Given the description of an element on the screen output the (x, y) to click on. 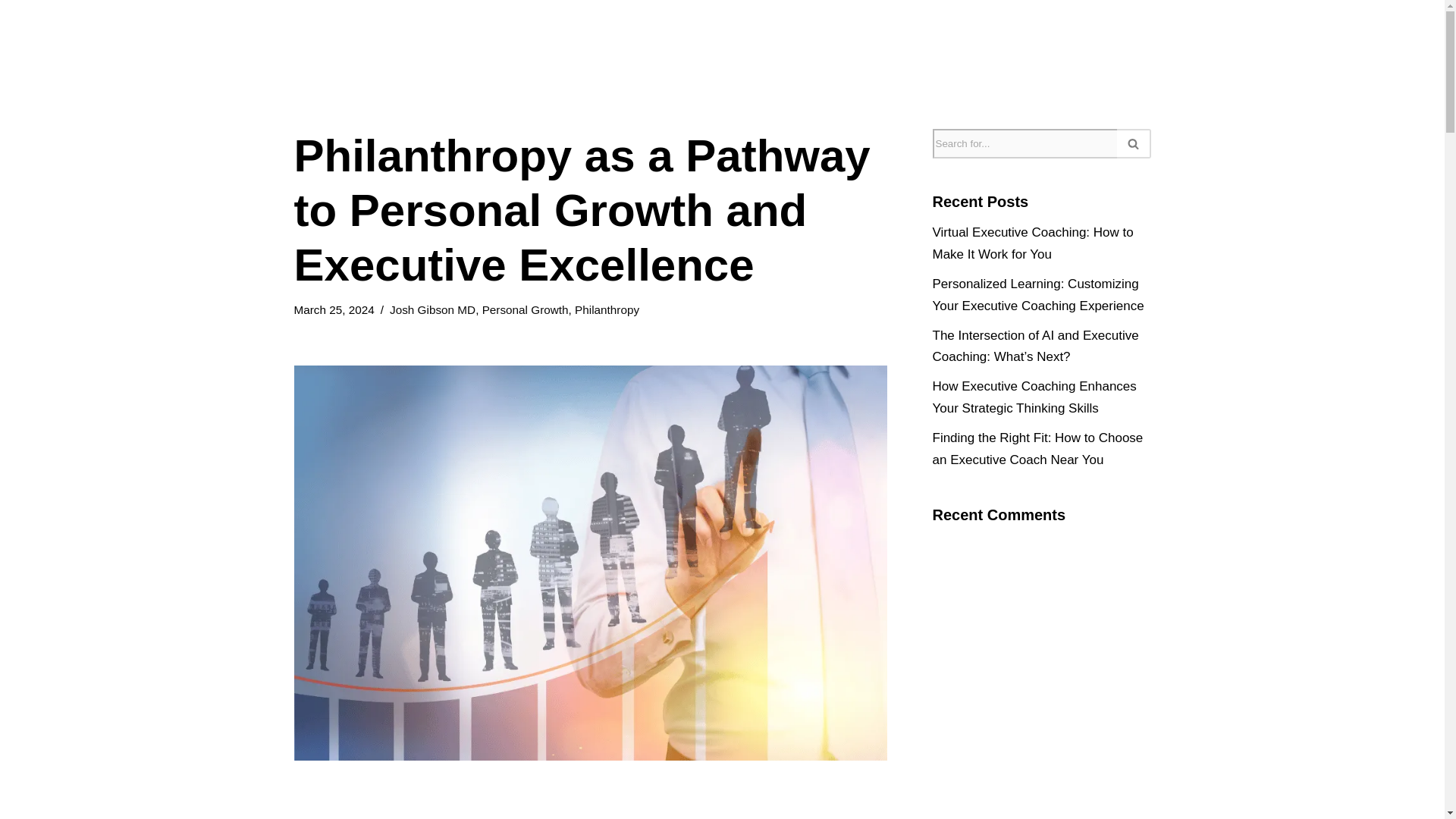
Philanthropy (607, 309)
Personal Growth (525, 309)
Virtual Executive Coaching: How to Make It Work for You (1033, 243)
Skip to content (11, 31)
Josh Gibson MD (433, 309)
